Given the description of an element on the screen output the (x, y) to click on. 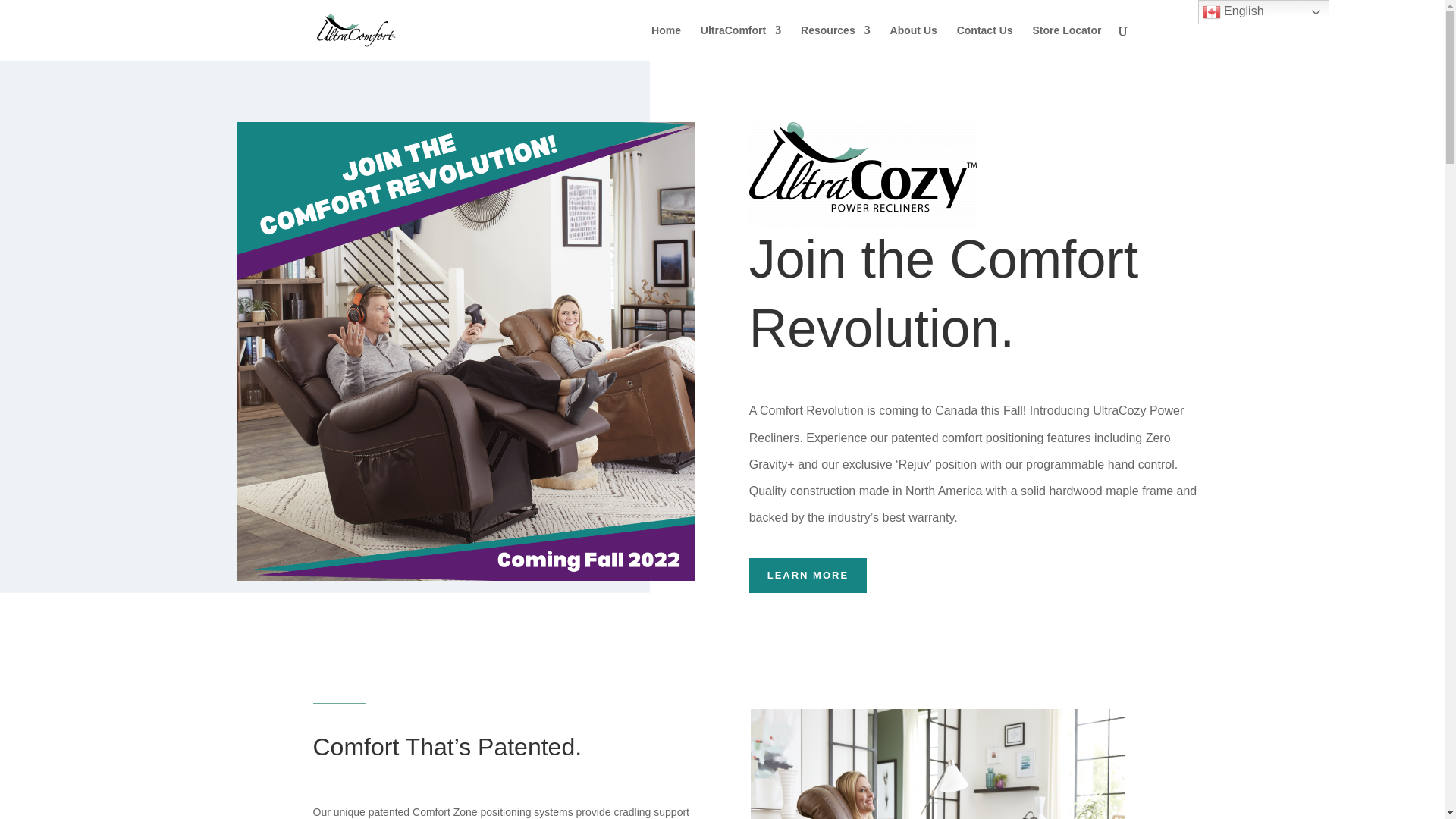
Contact Us (984, 42)
LOGO - UltraCozy (862, 174)
Store Locator (1066, 42)
UltraComfort (740, 42)
About Us (913, 42)
Resources (835, 42)
